Given the description of an element on the screen output the (x, y) to click on. 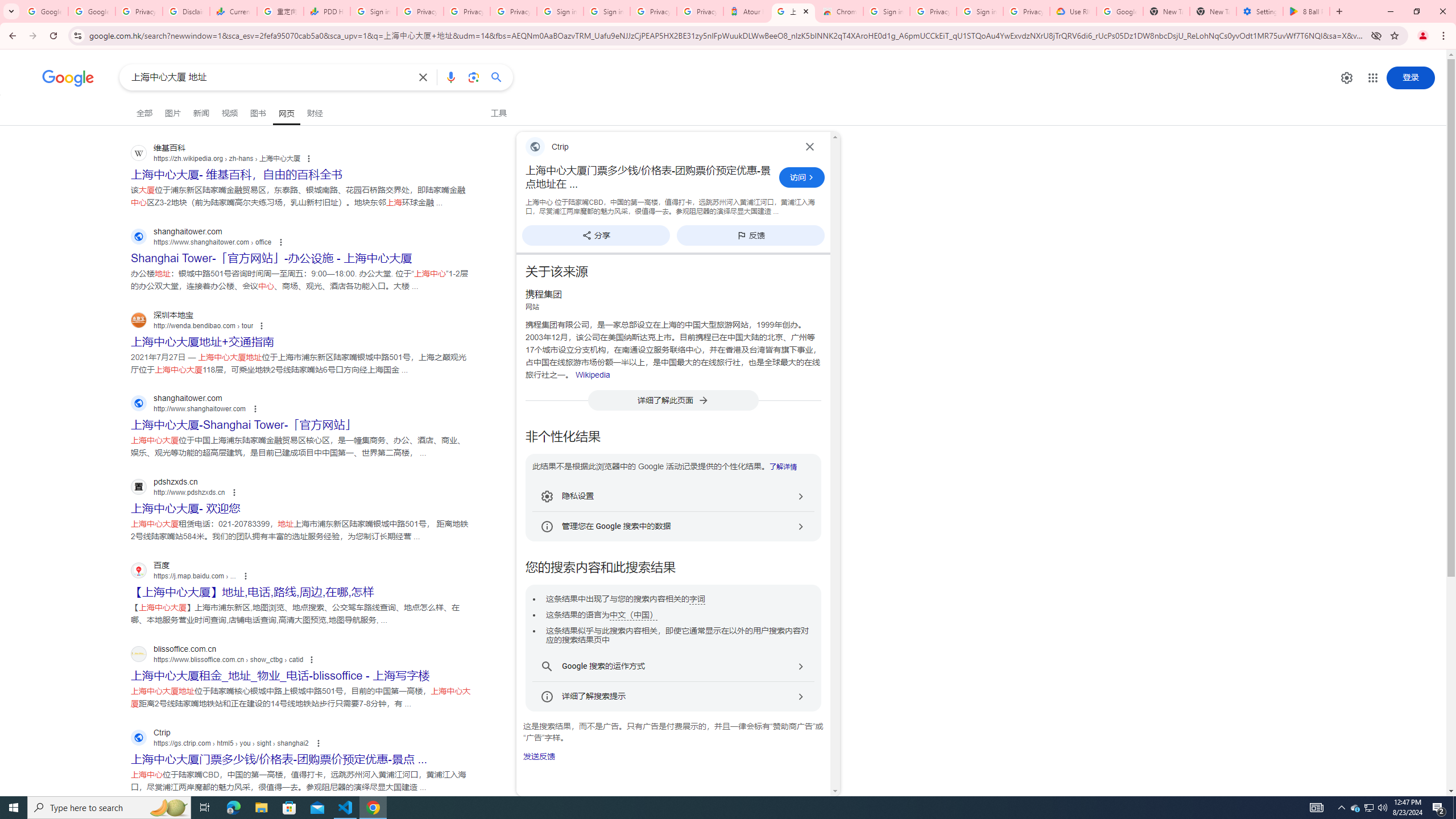
Chrome Web Store - Color themes by Chrome (838, 11)
Sign in - Google Accounts (373, 11)
Sign in - Google Accounts (980, 11)
PDD Holdings Inc - ADR (PDD) Price & News - Google Finance (326, 11)
Privacy Checkup (512, 11)
